Given the description of an element on the screen output the (x, y) to click on. 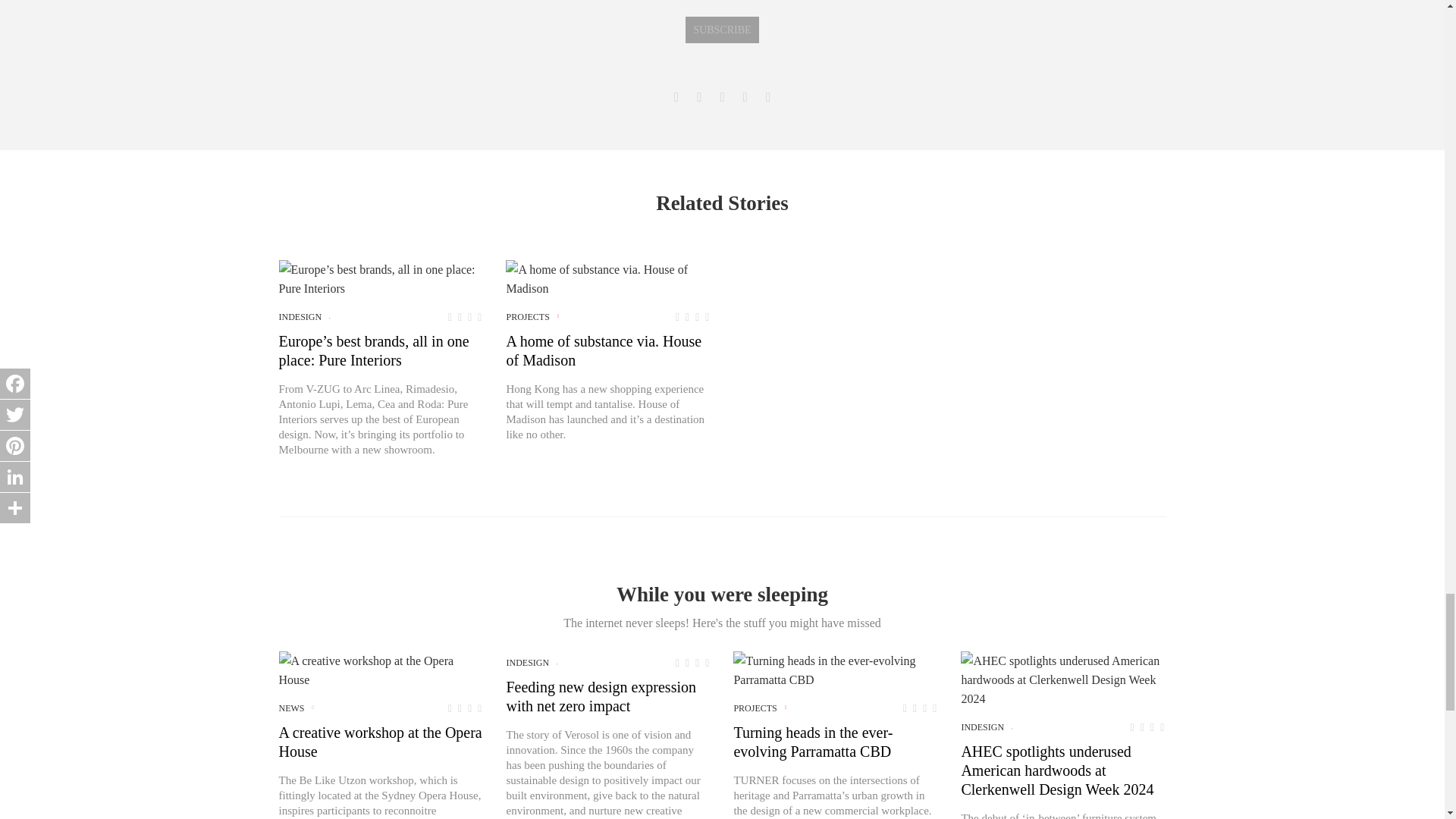
A creative workshop at the Opera House (381, 670)
Turning heads in the ever-evolving Parramatta CBD (835, 670)
A home of substance via. House of Madison (607, 279)
